Given the description of an element on the screen output the (x, y) to click on. 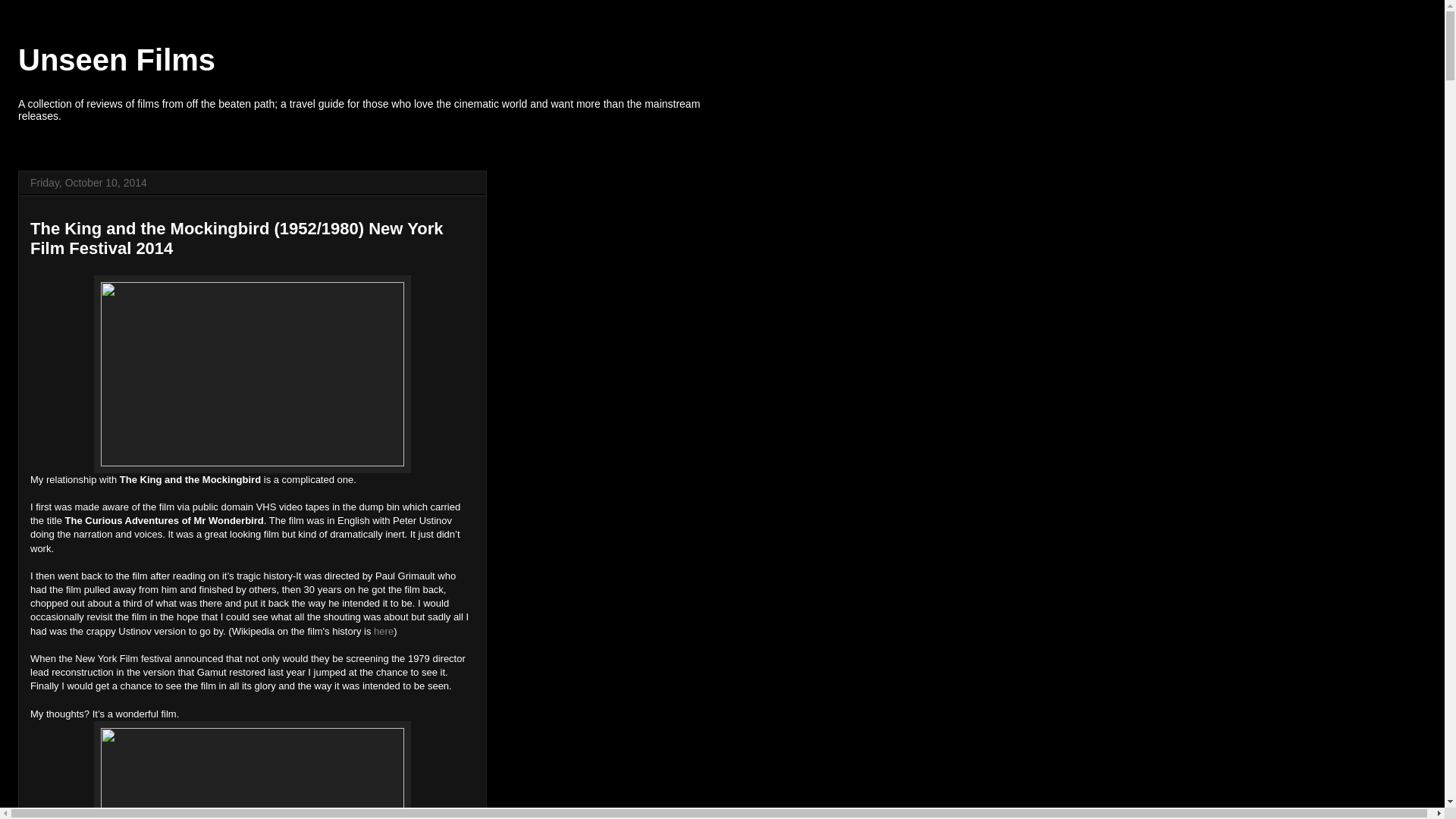
here (382, 631)
Unseen Films (116, 59)
